Given the description of an element on the screen output the (x, y) to click on. 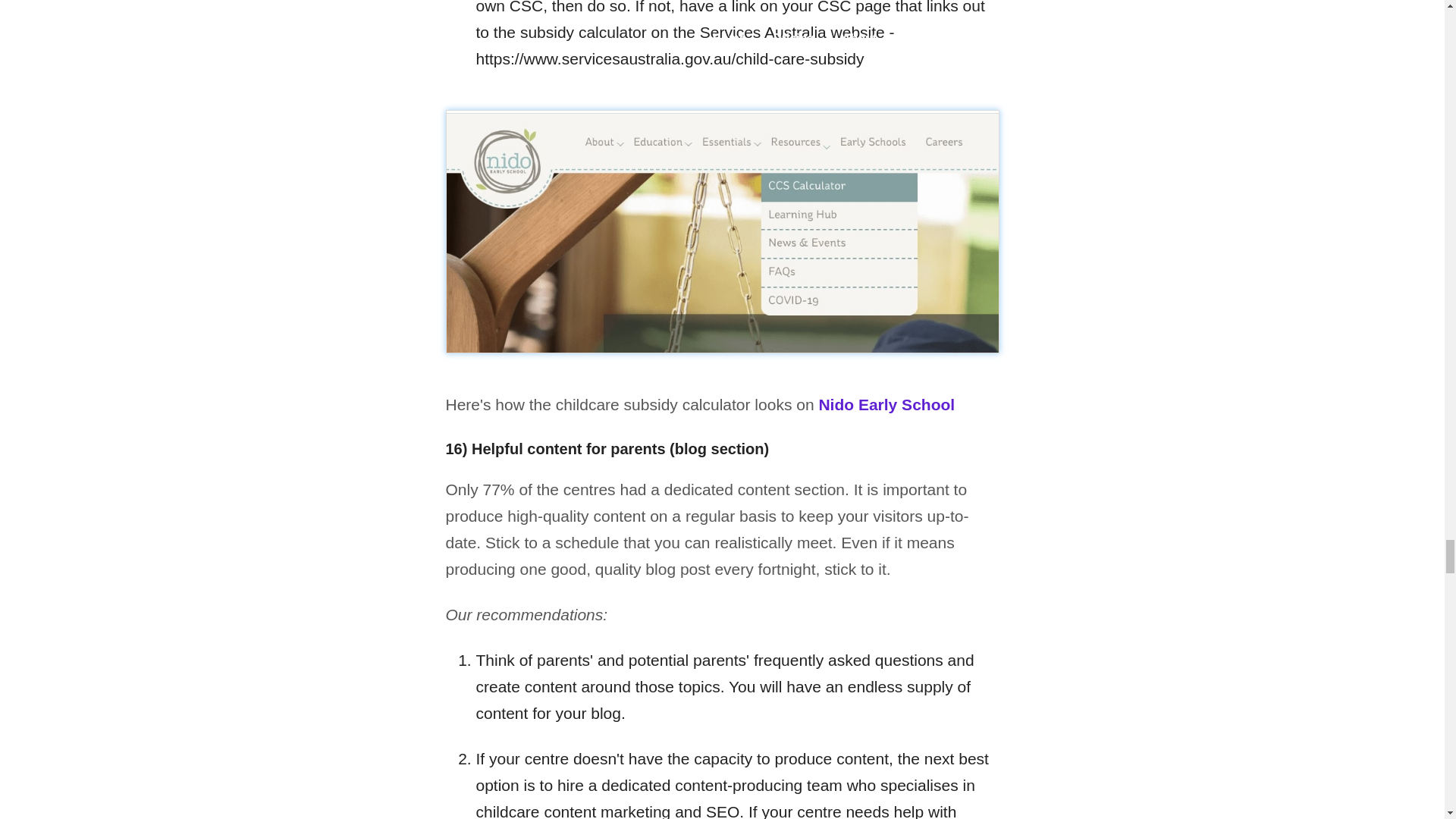
Nido Early School (886, 404)
